Given the description of an element on the screen output the (x, y) to click on. 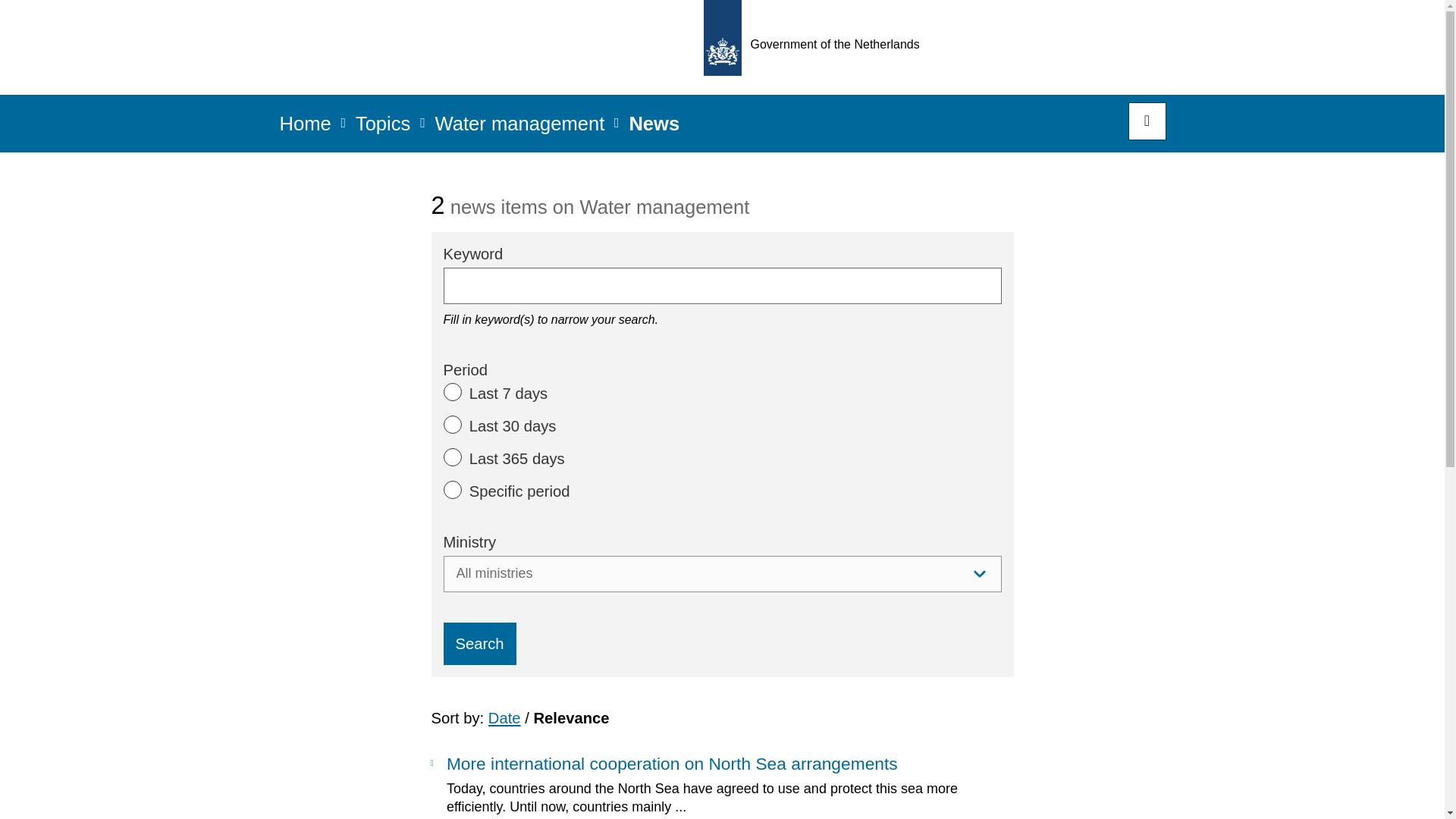
Home (304, 128)
Date (504, 718)
Search (478, 643)
Start search (1146, 121)
Government of the Netherlands (815, 47)
Search (1146, 121)
Search (478, 643)
Water management (518, 128)
Topics (382, 128)
